Given the description of an element on the screen output the (x, y) to click on. 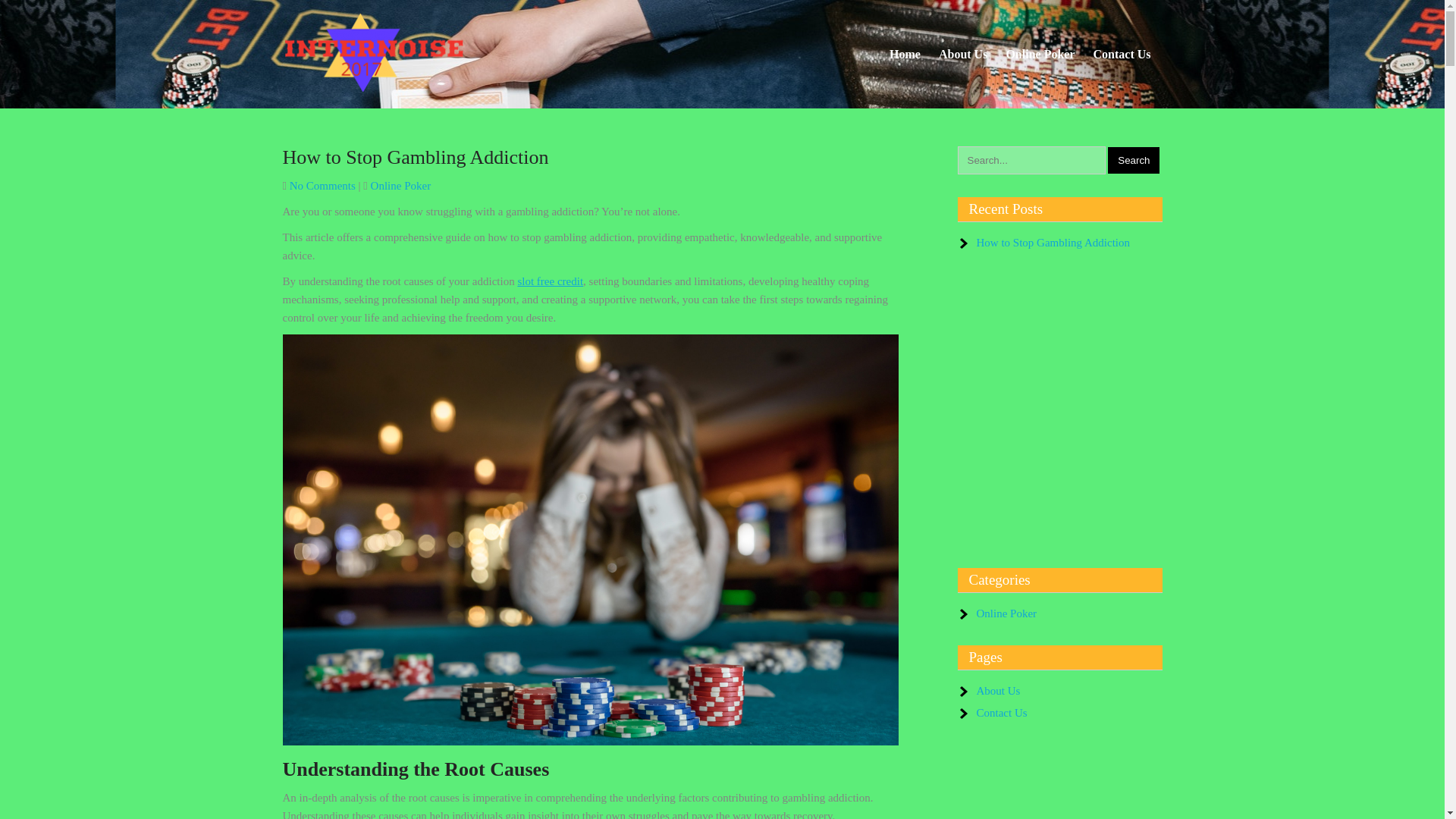
Online Poker (400, 185)
slot free credit (549, 281)
No Comments (322, 185)
INTERNOISE 2017 (385, 110)
Search (1133, 160)
About Us (962, 53)
Search (1133, 160)
How to Stop Gambling Addiction (415, 157)
Contact Us (1121, 53)
Online Poker (1039, 53)
